Given the description of an element on the screen output the (x, y) to click on. 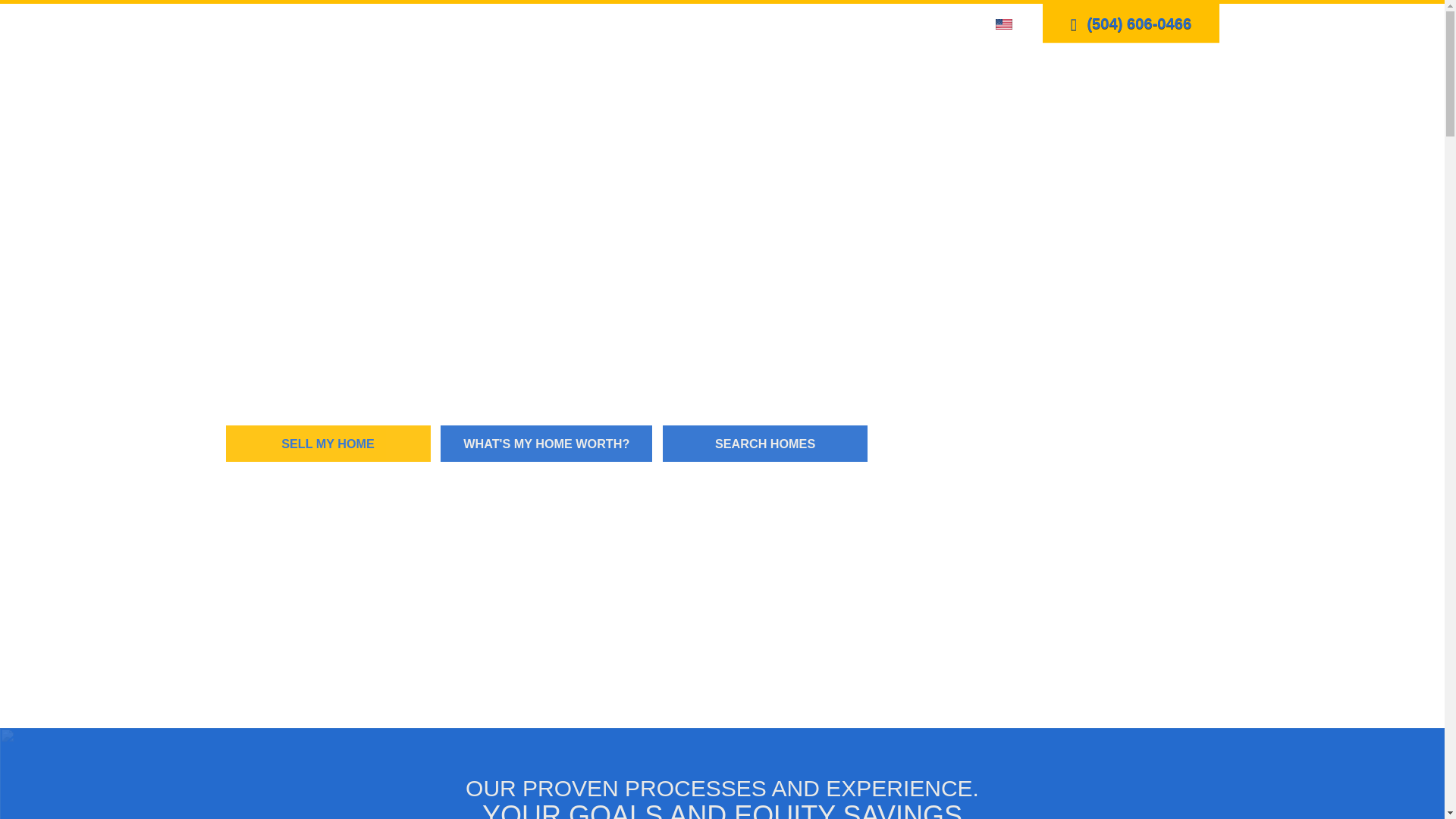
Home Page (278, 50)
SEARCH (707, 77)
SELLERS (1002, 77)
Register (920, 23)
MAIN (633, 77)
ABOUT (1085, 77)
Select Language (1008, 23)
BUYERS (915, 77)
COMMUNITIES (812, 77)
Login (872, 23)
